Given the description of an element on the screen output the (x, y) to click on. 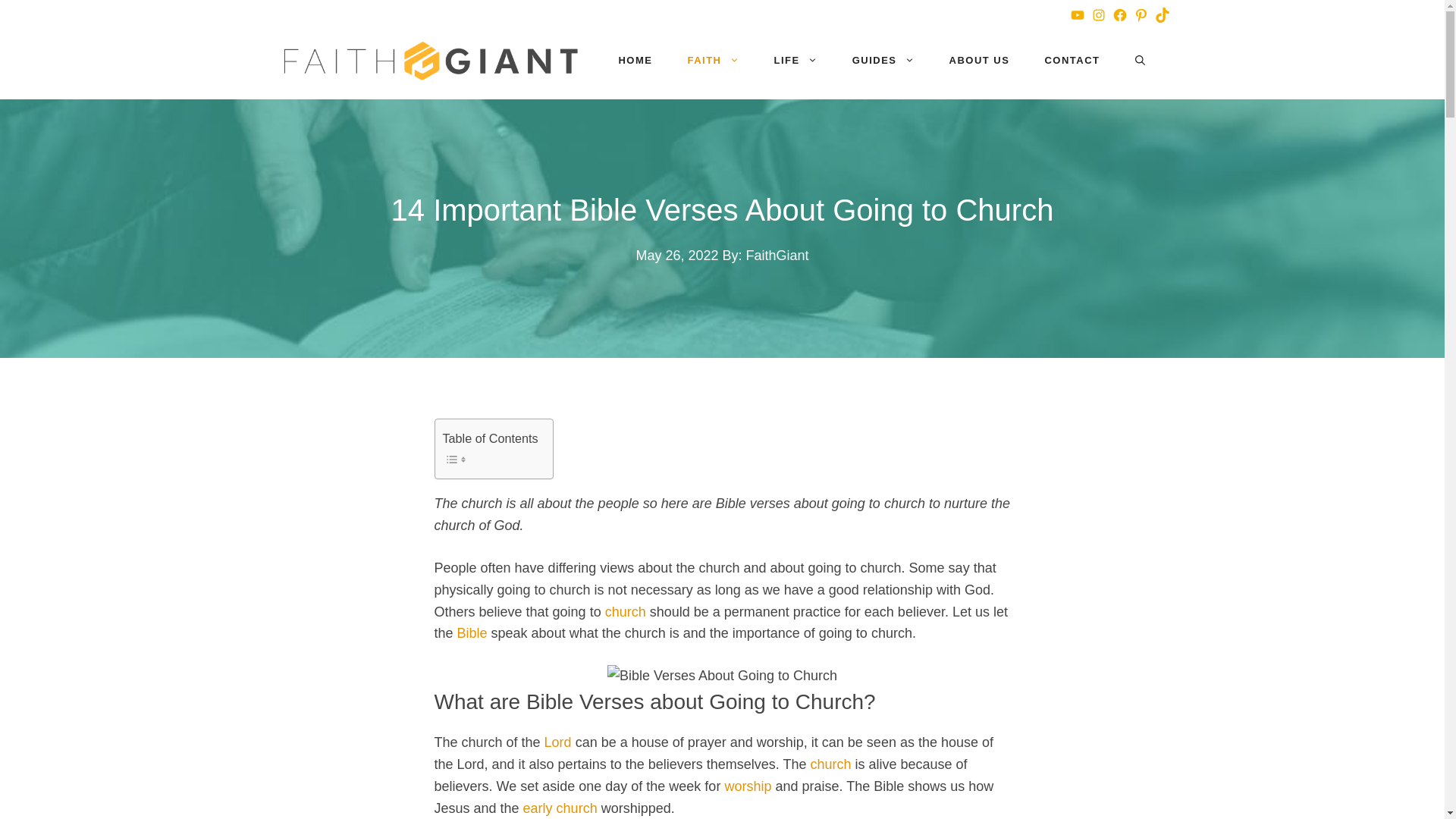
Facebook (1119, 14)
Pinterest (1140, 14)
Instagram (1097, 14)
LIFE (795, 60)
TikTok (1161, 14)
HOME (634, 60)
FAITH (712, 60)
YouTube (1076, 14)
GUIDES (882, 60)
